Given the description of an element on the screen output the (x, y) to click on. 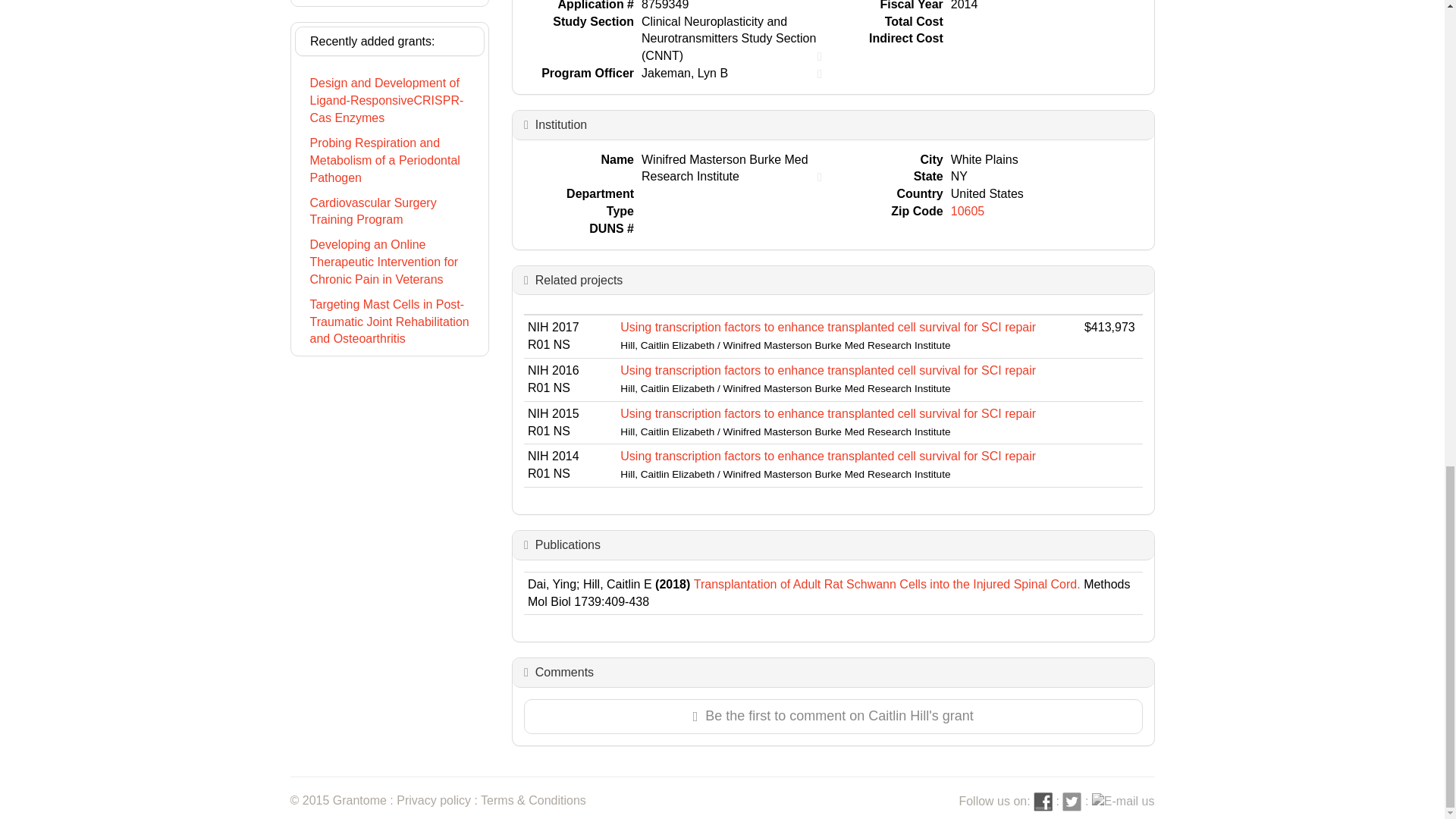
Probing Respiration and Metabolism of a Periodontal Pathogen (389, 160)
Cardiovascular Surgery Training Program (389, 211)
